Given the description of an element on the screen output the (x, y) to click on. 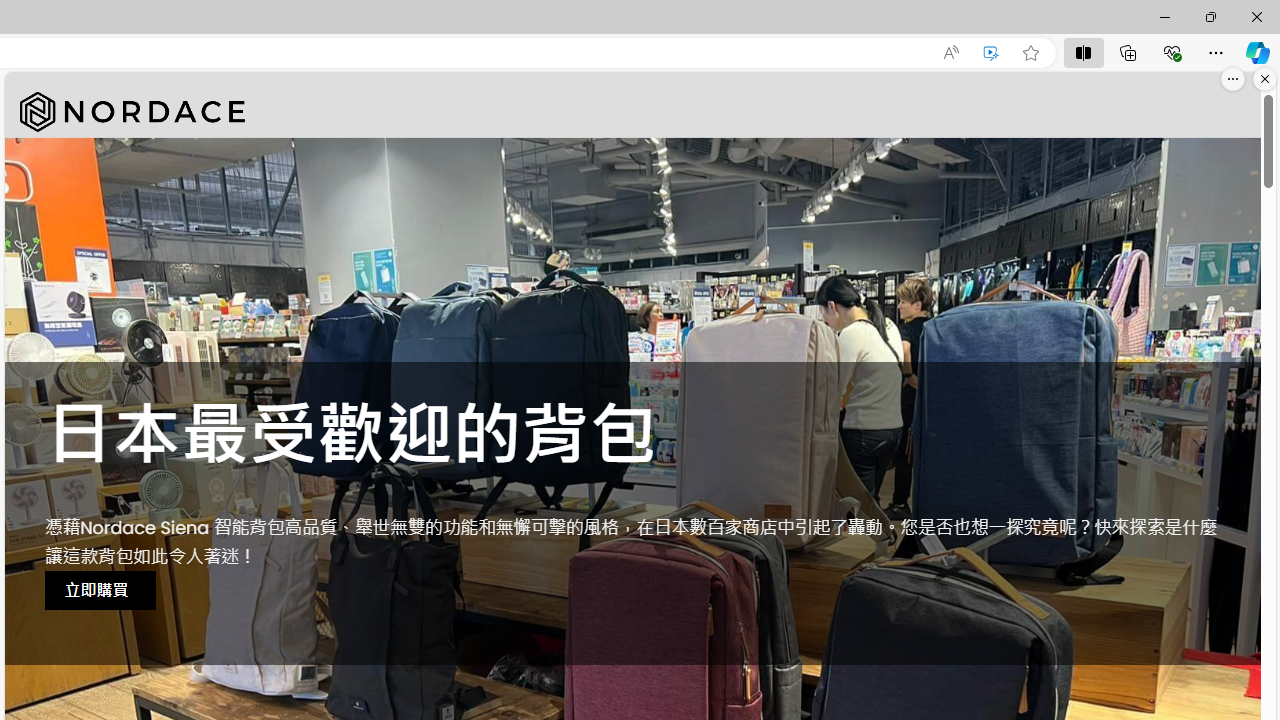
Copilot (Ctrl+Shift+.) (1258, 52)
Nordace (132, 111)
Restore (1210, 16)
More options. (1233, 79)
Enhance video (991, 53)
Minimize (1164, 16)
Close (1256, 16)
Settings and more (Alt+F) (1215, 52)
Split screen (1083, 52)
Browser essentials (1171, 52)
Read aloud this page (Ctrl+Shift+U) (950, 53)
Add this page to favorites (Ctrl+D) (1030, 53)
